Given the description of an element on the screen output the (x, y) to click on. 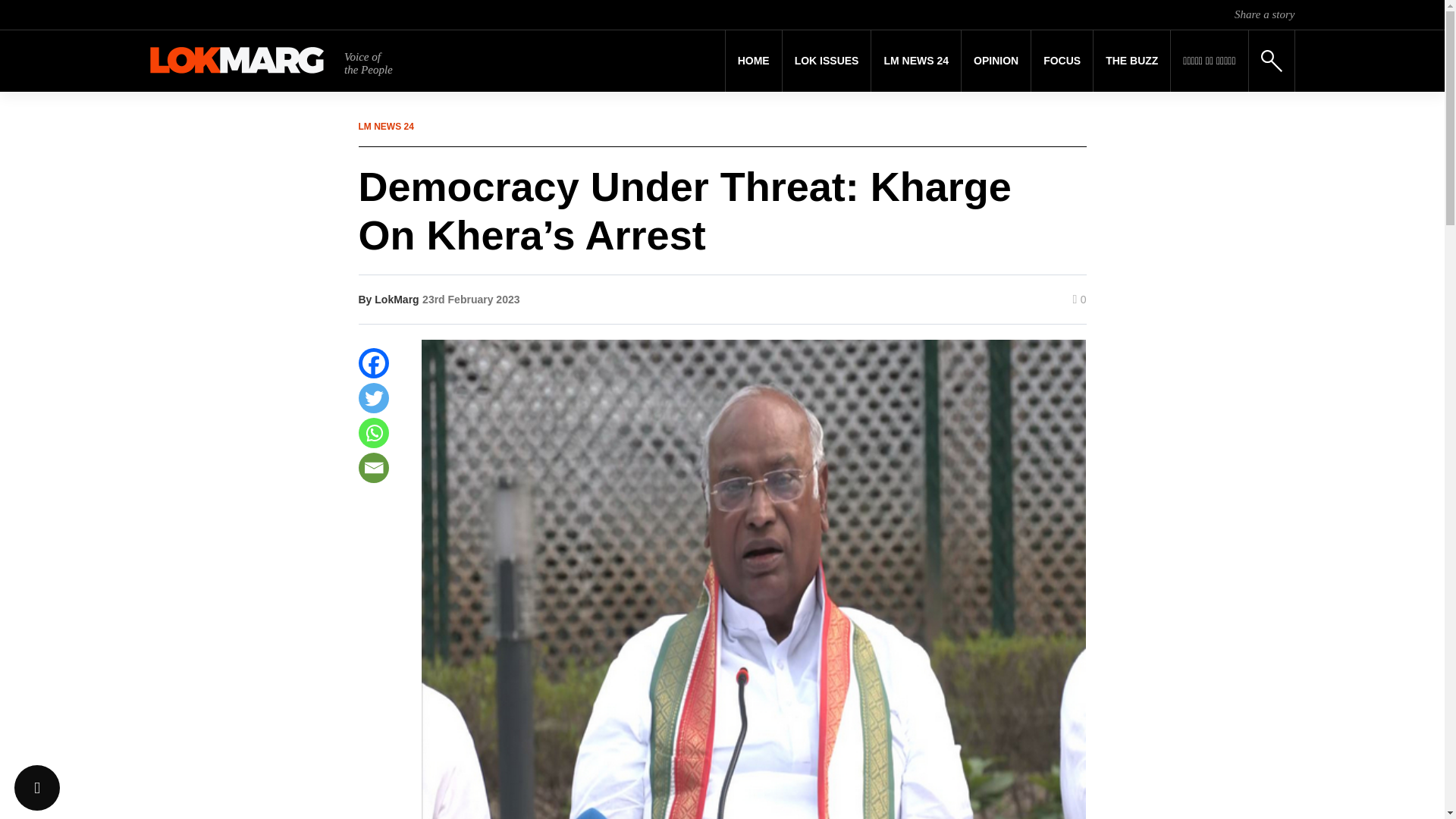
Focus (1061, 60)
Lok Issues (826, 60)
HOME (753, 60)
Home (753, 60)
LOK ISSUES (826, 60)
OPINION (995, 60)
THE BUZZ (1131, 60)
Facebook (373, 363)
Whatsapp (373, 432)
LM News 24 (915, 60)
